Given the description of an element on the screen output the (x, y) to click on. 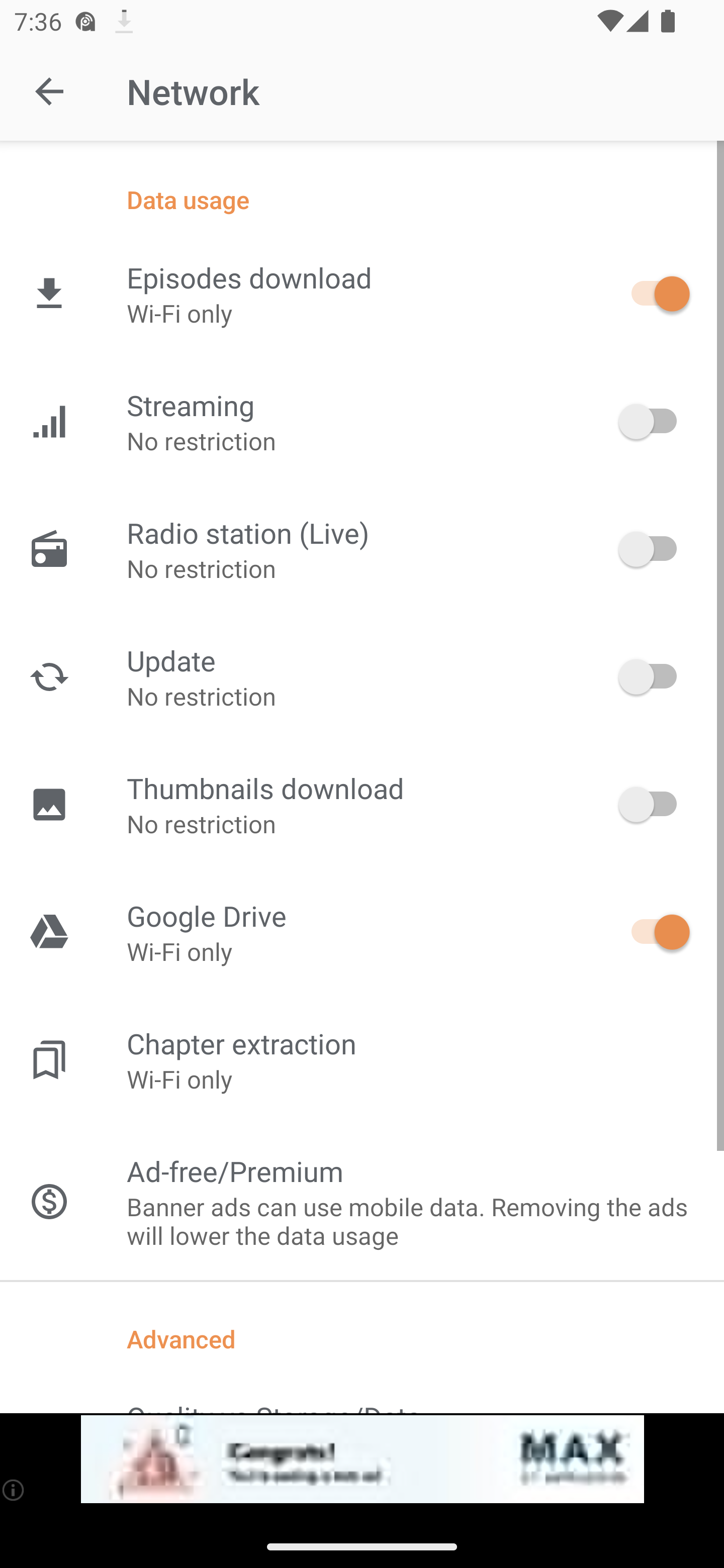
Navigate up (49, 91)
Episodes download Wi-Fi only (362, 293)
Streaming No restriction (362, 421)
Radio station (Live) No restriction (362, 549)
Update No restriction (362, 676)
Thumbnails download No restriction (362, 804)
Google Drive Wi-Fi only (362, 931)
Chapter extraction Wi-Fi only (362, 1059)
app-monetization (362, 1459)
(i) (14, 1489)
